Given the description of an element on the screen output the (x, y) to click on. 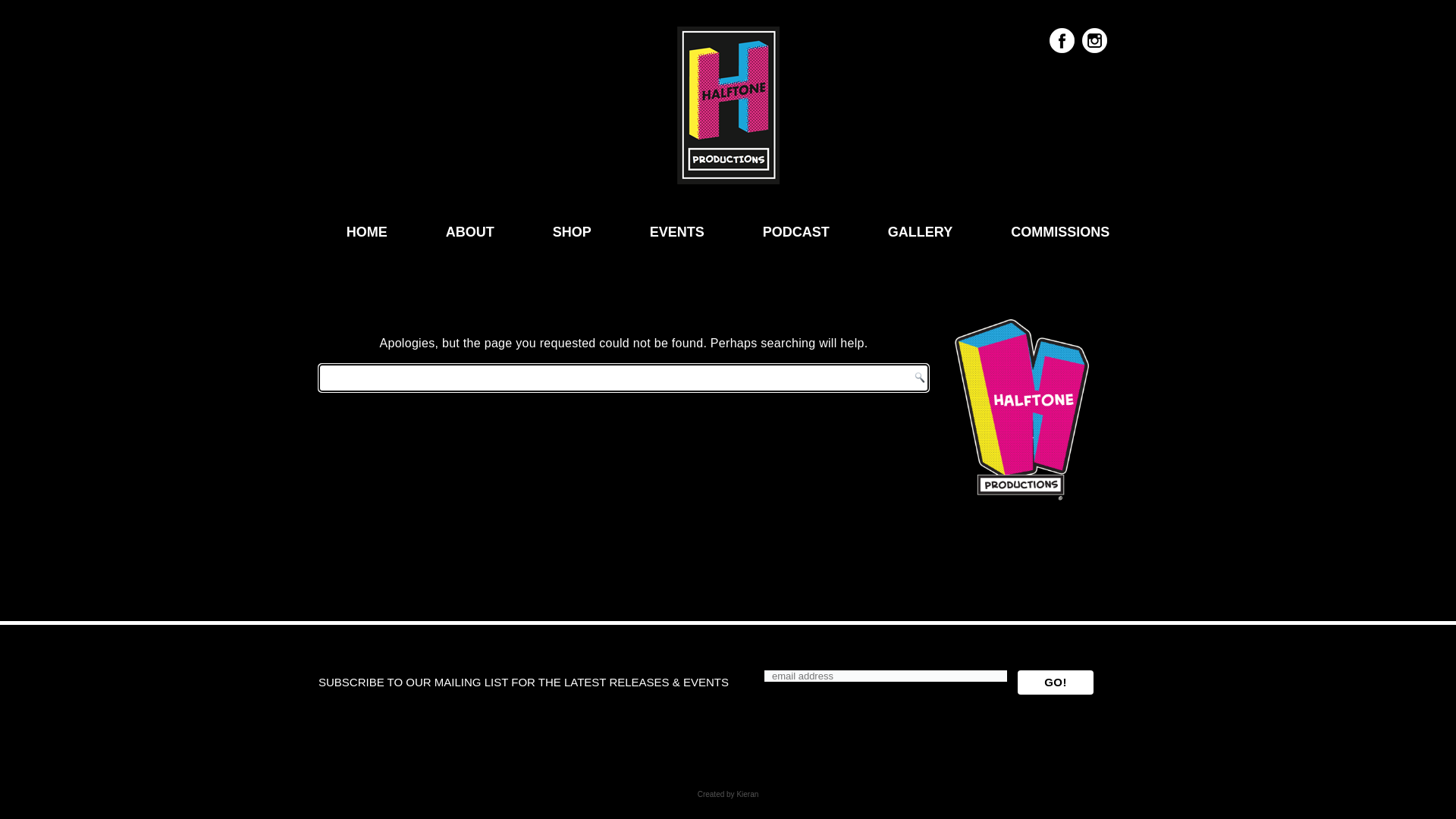
Go! Element type: text (1055, 682)
COMMISSIONS Element type: text (1060, 231)
HOME Element type: text (366, 231)
GALLERY Element type: text (920, 231)
SHOP Element type: text (572, 231)
EVENTS Element type: text (677, 231)
ABOUT Element type: text (470, 231)
PODCAST Element type: text (796, 231)
